Given the description of an element on the screen output the (x, y) to click on. 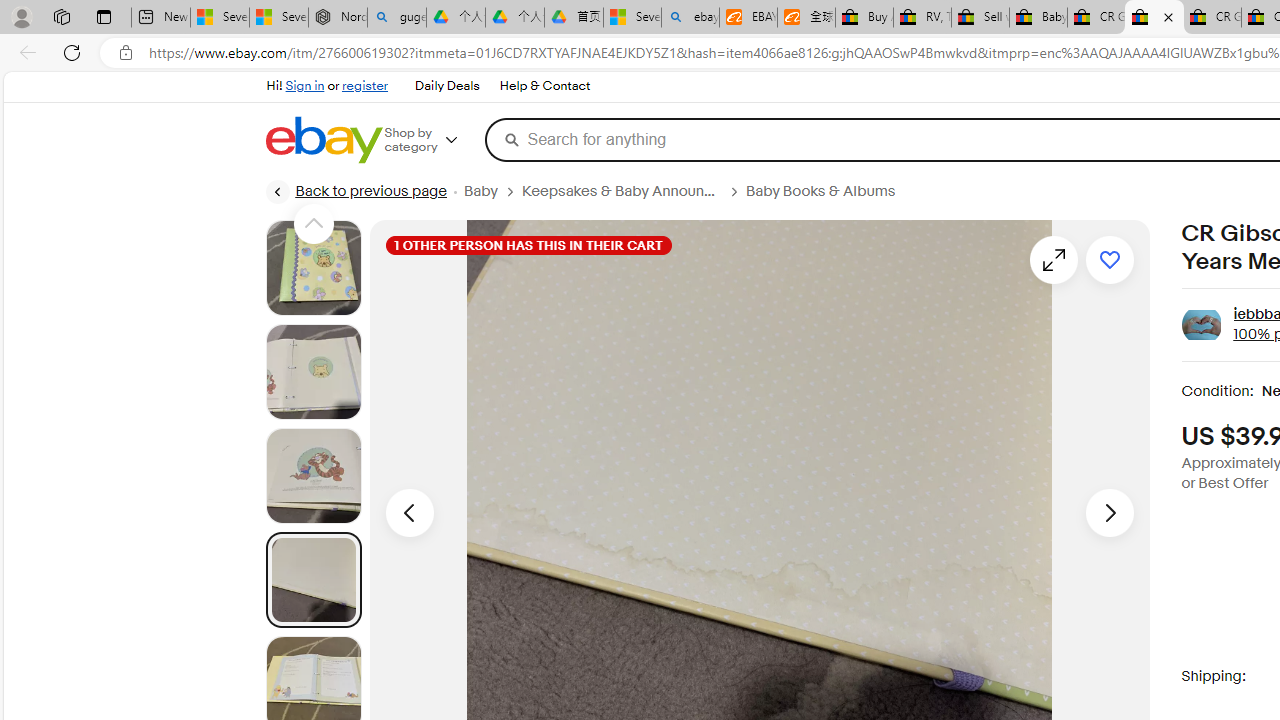
Picture 2 of 22 (313, 371)
Keepsakes & Baby Announcements (620, 191)
Buy Auto Parts & Accessories | eBay (864, 17)
Picture 1 of 22 (313, 268)
Baby Books & Albums (820, 191)
eBay Home (323, 139)
Baby (480, 191)
Picture 1 of 22 (313, 268)
Help & Contact (543, 85)
Sign in (305, 85)
